Given the description of an element on the screen output the (x, y) to click on. 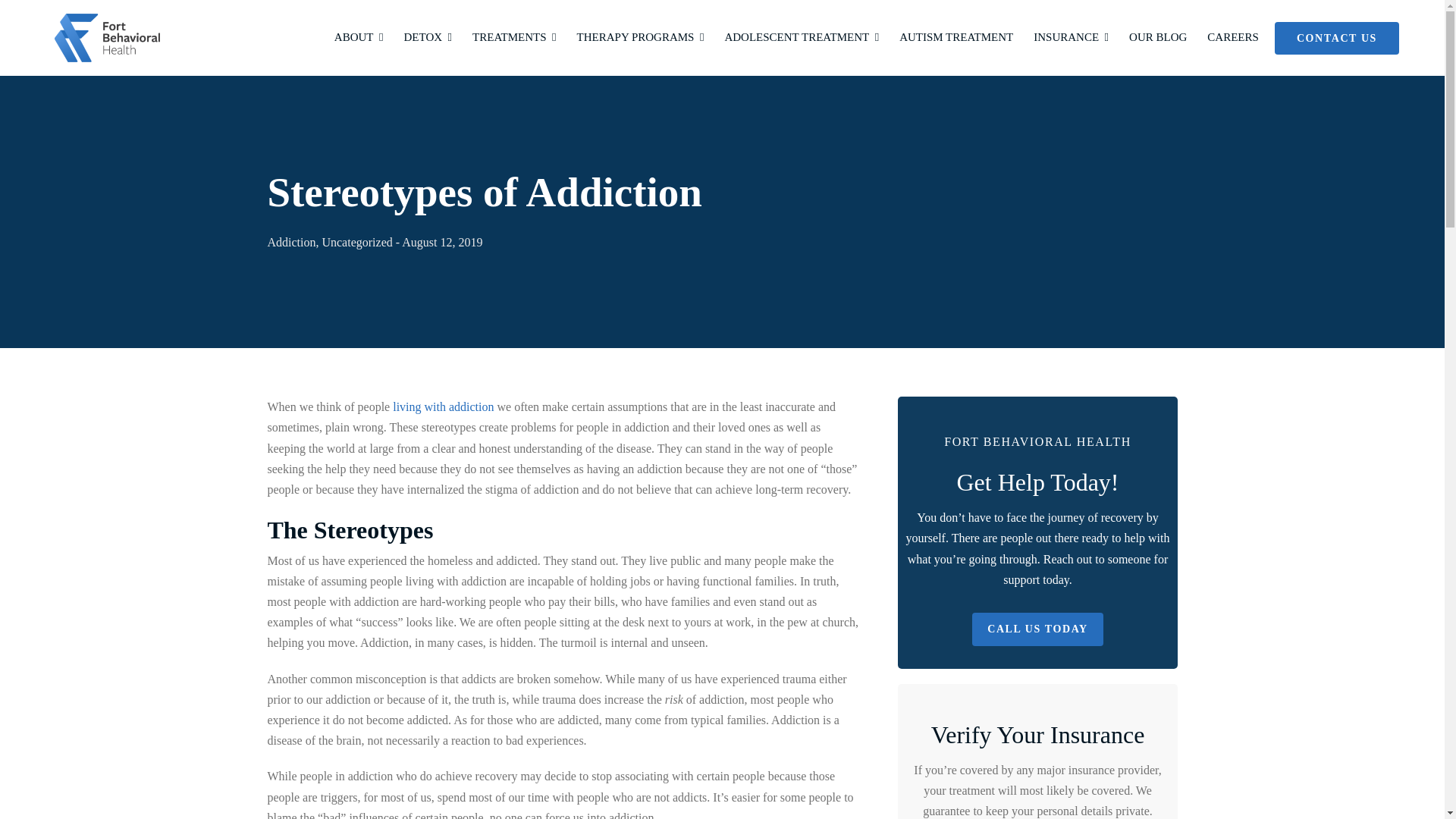
THERAPY PROGRAMS (640, 38)
TREATMENTS (513, 38)
